Given the description of an element on the screen output the (x, y) to click on. 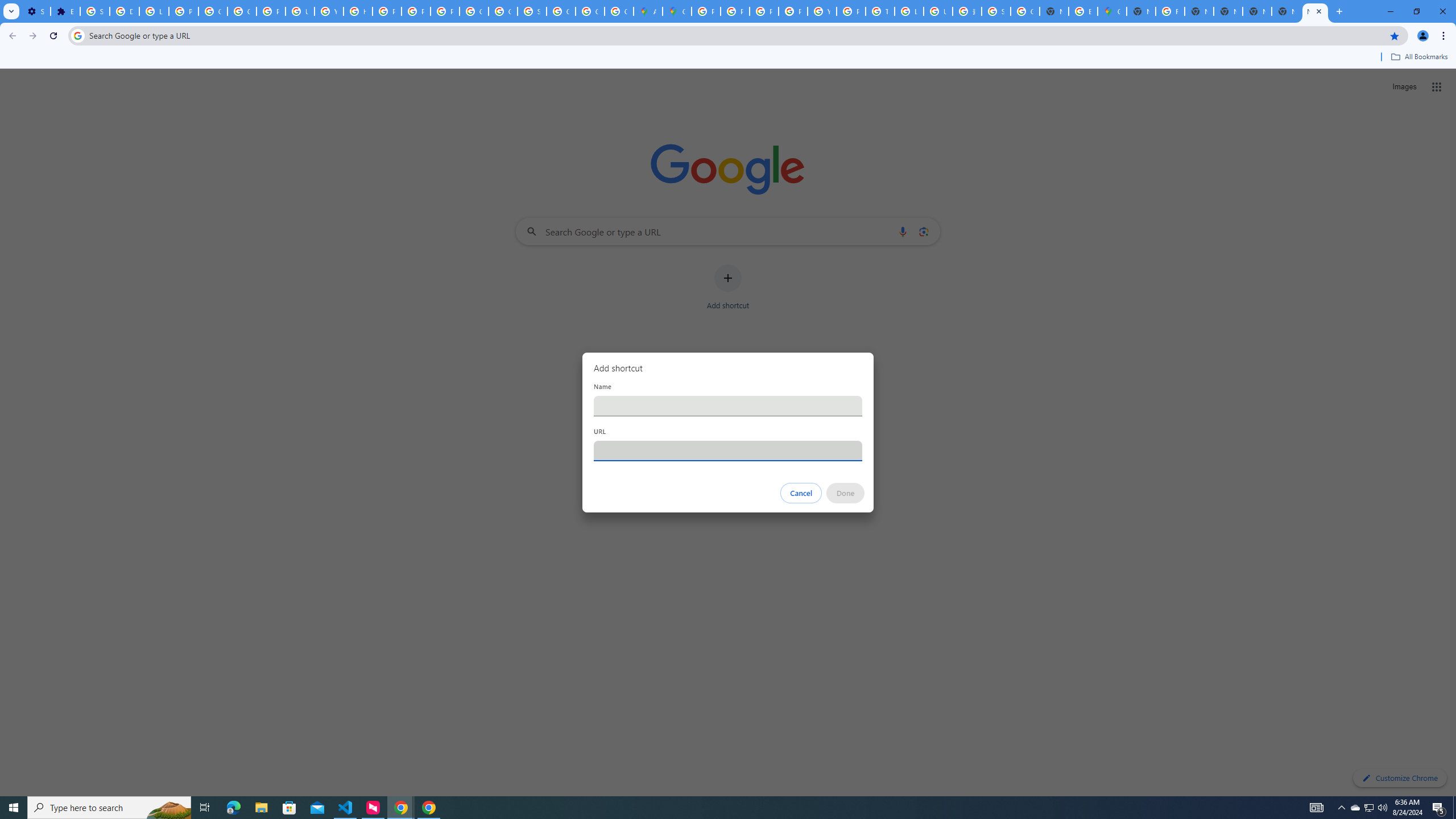
Name (727, 405)
Create your Google Account (619, 11)
New Tab (1315, 11)
Privacy Help Center - Policies Help (734, 11)
Done (845, 493)
URL (727, 450)
